Given the description of an element on the screen output the (x, y) to click on. 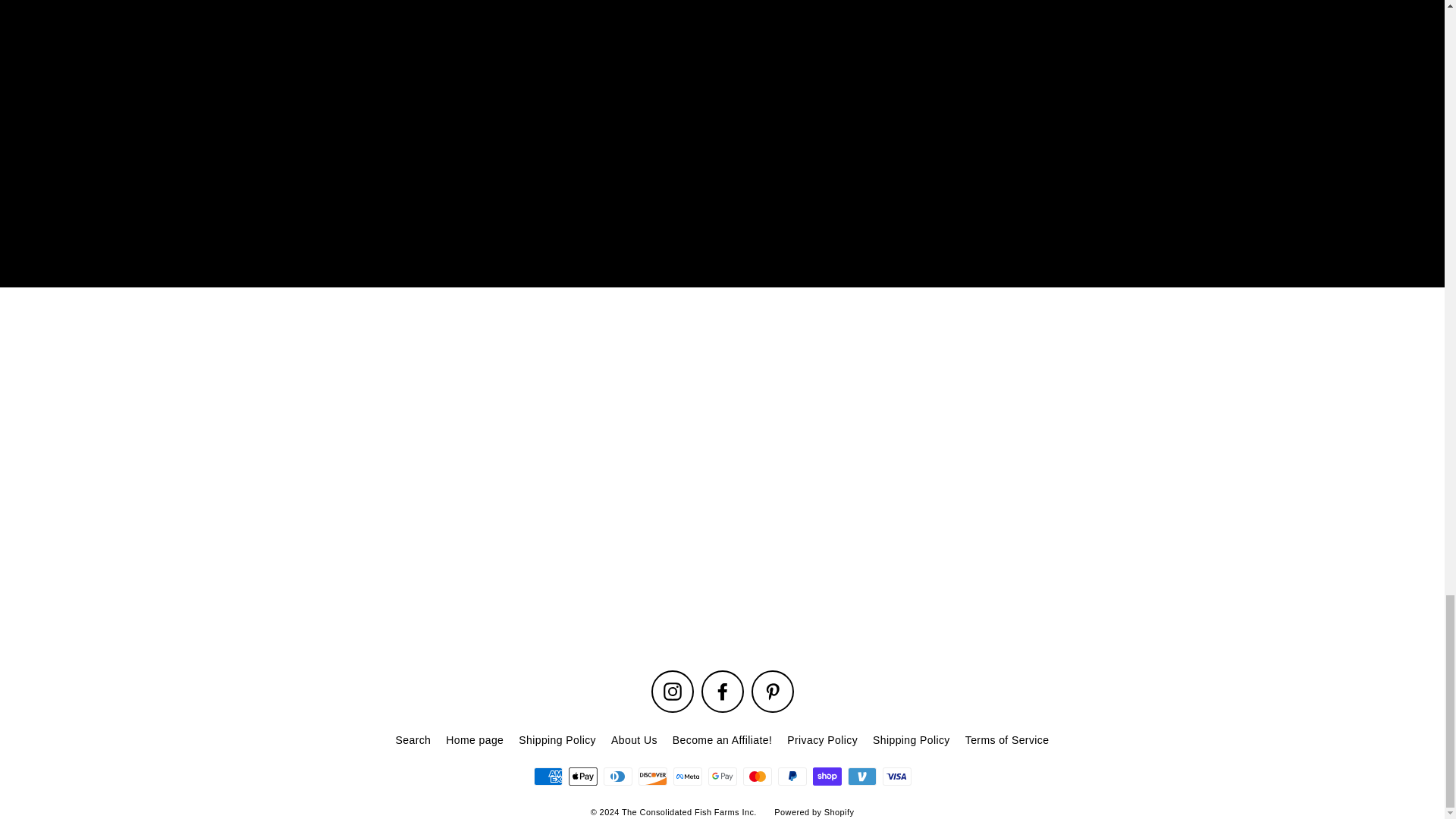
Diners Club (617, 776)
Google Pay (721, 776)
Mastercard (756, 776)
Discover (652, 776)
Meta Pay (686, 776)
The Consolidated Fish Farms Inc. on Pinterest (772, 691)
Apple Pay (582, 776)
PayPal (791, 776)
Venmo (861, 776)
Shop Pay (826, 776)
American Express (548, 776)
Visa (896, 776)
The Consolidated Fish Farms Inc. on Facebook (721, 691)
The Consolidated Fish Farms Inc. on Instagram (671, 691)
